Given the description of an element on the screen output the (x, y) to click on. 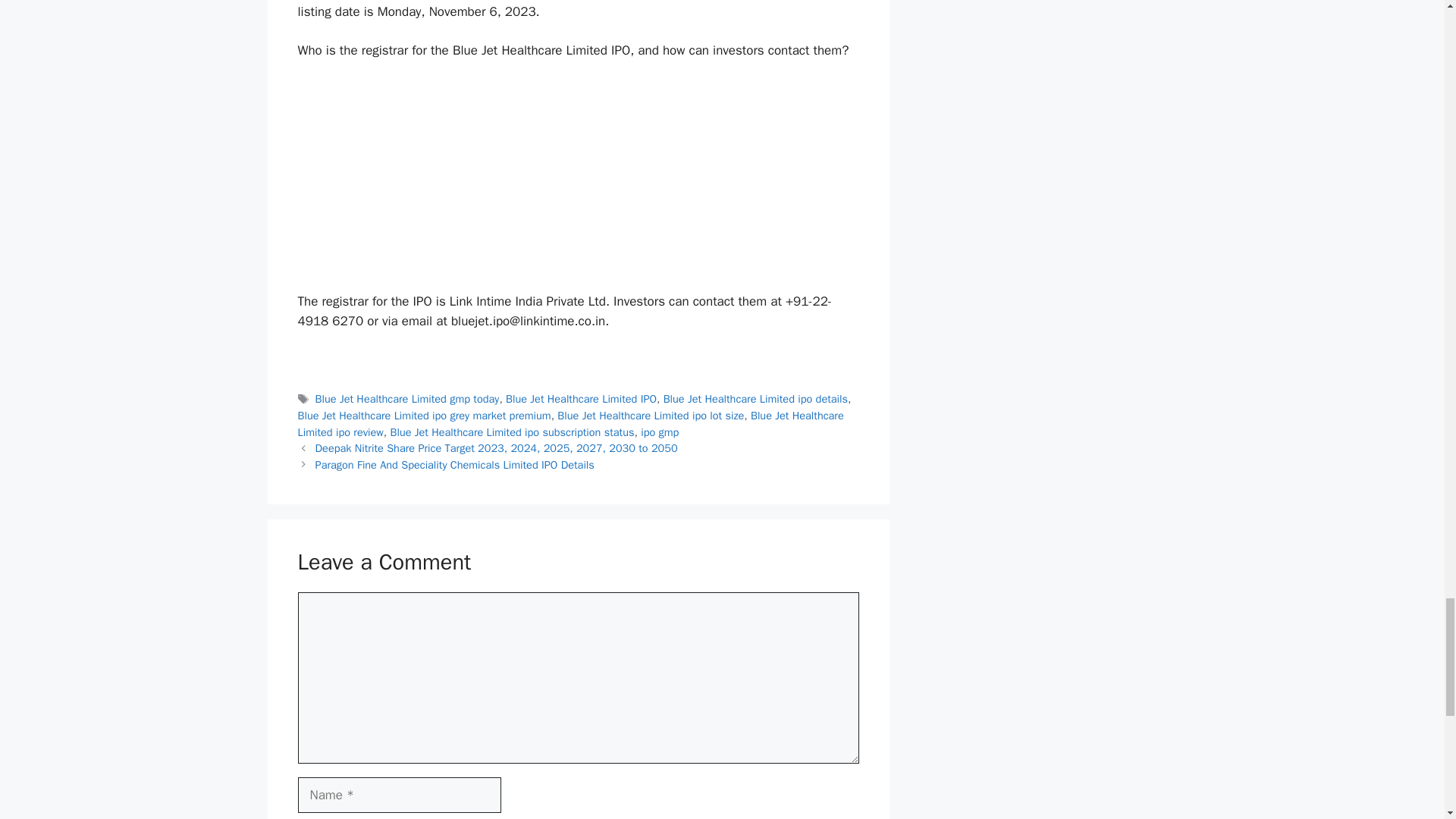
Blue Jet Healthcare Limited IPO (580, 398)
Blue Jet Healthcare Limited ipo lot size (650, 415)
Blue Jet Healthcare Limited ipo review (570, 423)
ipo gmp (659, 431)
Blue Jet Healthcare Limited ipo details (755, 398)
Paragon Fine And Speciality Chemicals Limited IPO Details (454, 464)
Blue Jet Healthcare Limited ipo subscription status (511, 431)
Blue Jet Healthcare Limited gmp today (407, 398)
Blue Jet Healthcare Limited ipo grey market premium (423, 415)
